Given the description of an element on the screen output the (x, y) to click on. 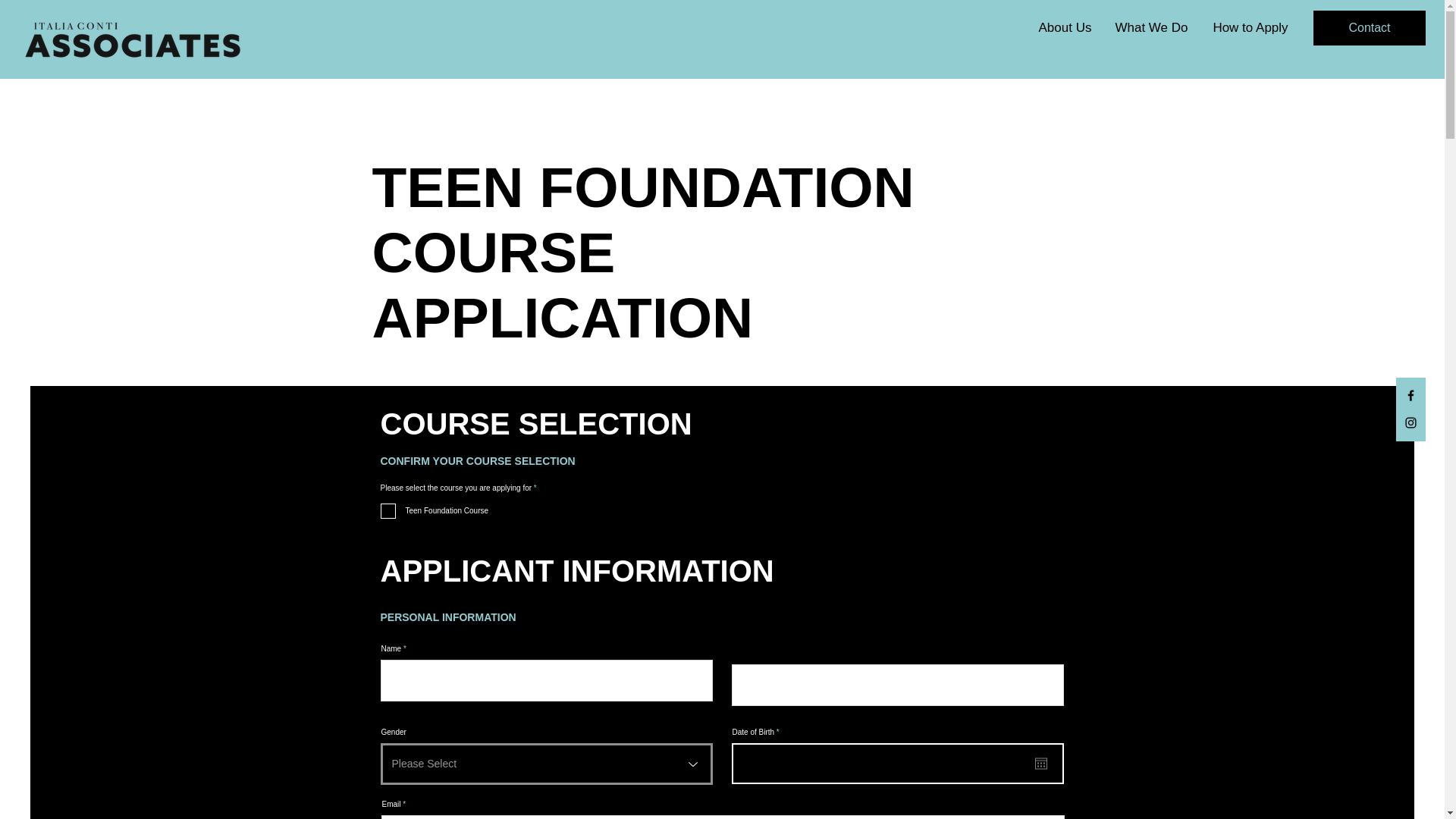
What We Do (1151, 27)
Contact (1369, 27)
About Us (1064, 27)
How to Apply (1250, 27)
